Given the description of an element on the screen output the (x, y) to click on. 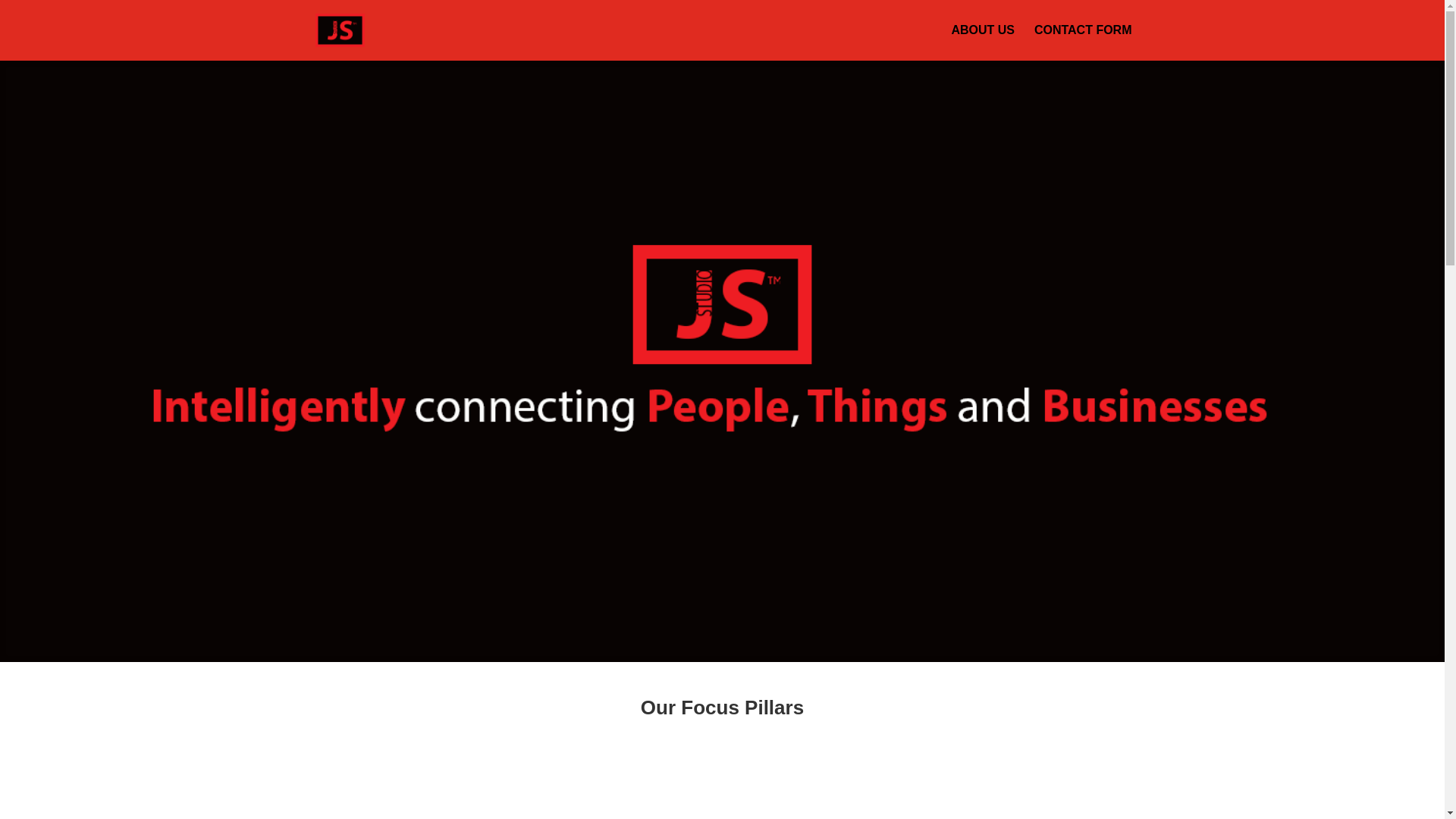
ABOUT US (982, 42)
CONTACT FORM (1082, 42)
